Given the description of an element on the screen output the (x, y) to click on. 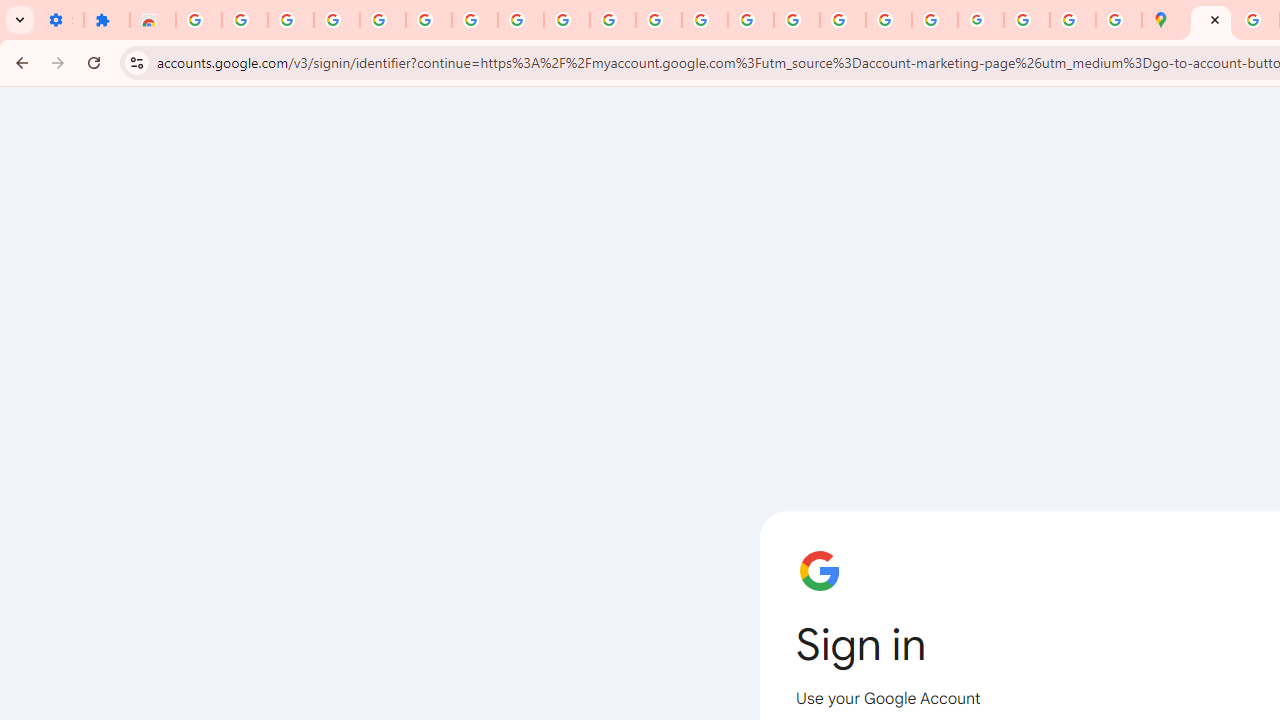
Sign in - Google Accounts (1210, 20)
Google Account Help (474, 20)
https://scholar.google.com/ (705, 20)
Delete photos & videos - Computer - Google Photos Help (244, 20)
Privacy Help Center - Policies Help (797, 20)
Google Maps (1164, 20)
Settings - On startup (60, 20)
YouTube (613, 20)
